Given the description of an element on the screen output the (x, y) to click on. 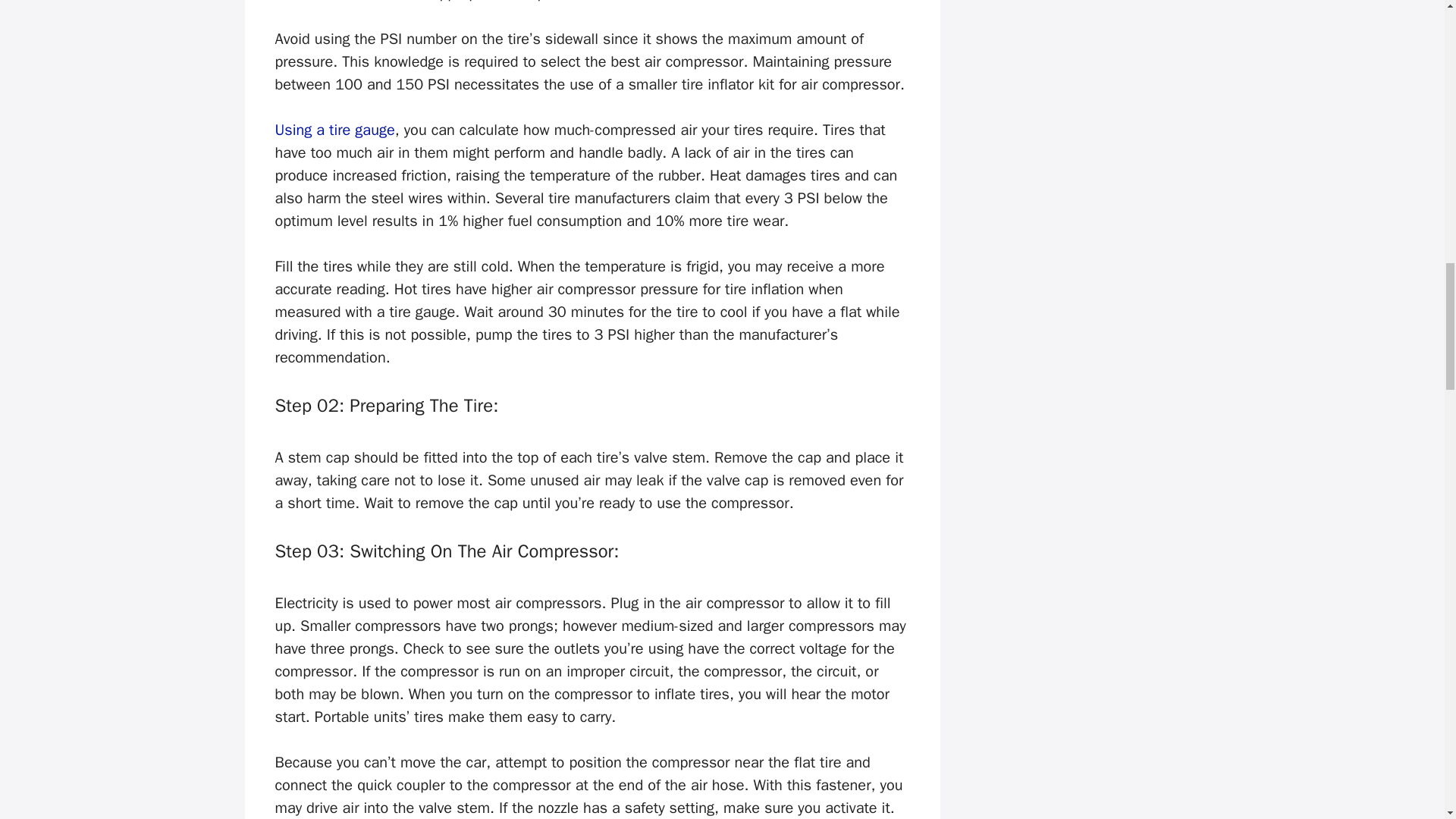
Using a tire gauge (334, 129)
